Given the description of an element on the screen output the (x, y) to click on. 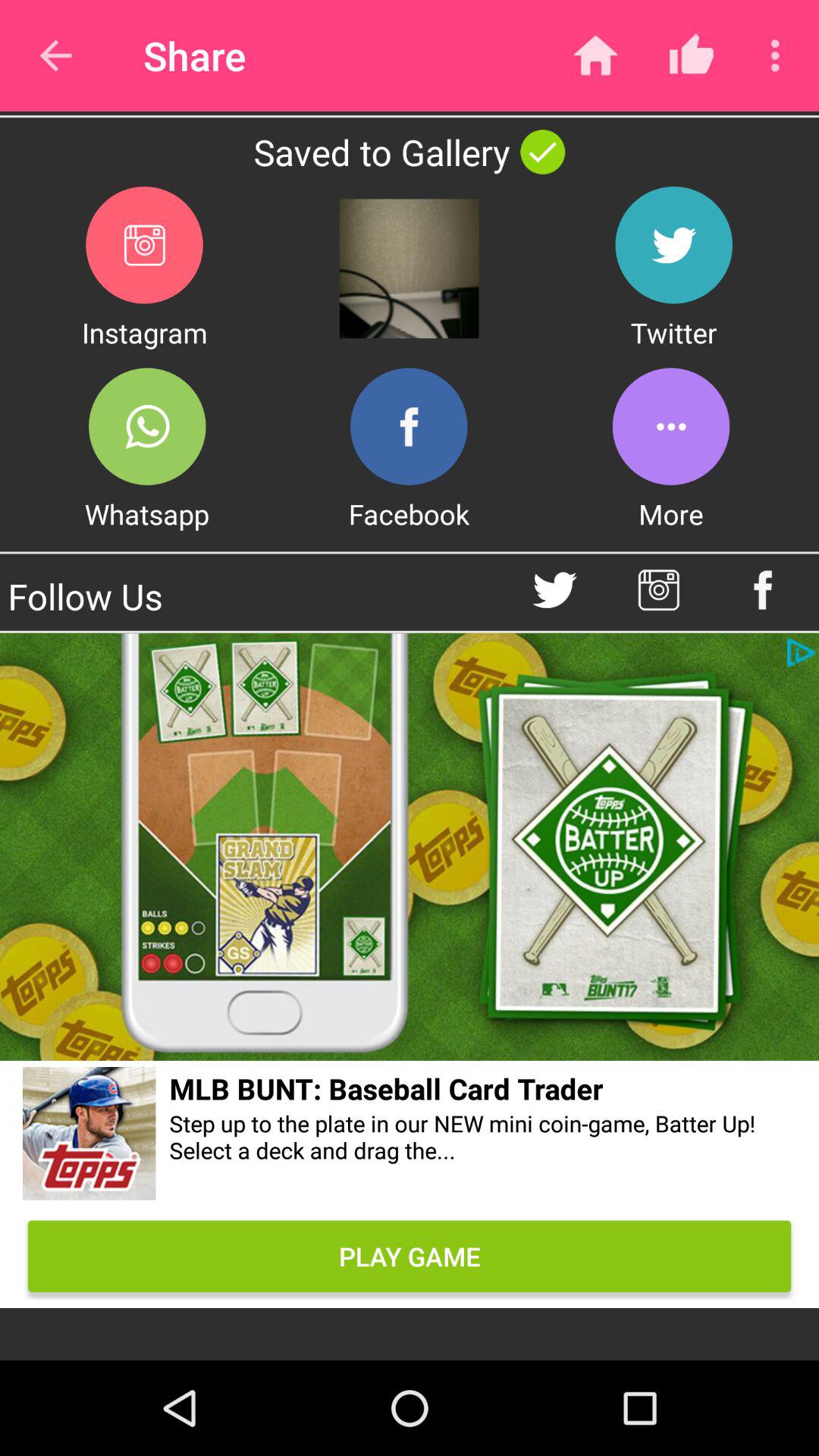
share to instagram (144, 244)
